Given the description of an element on the screen output the (x, y) to click on. 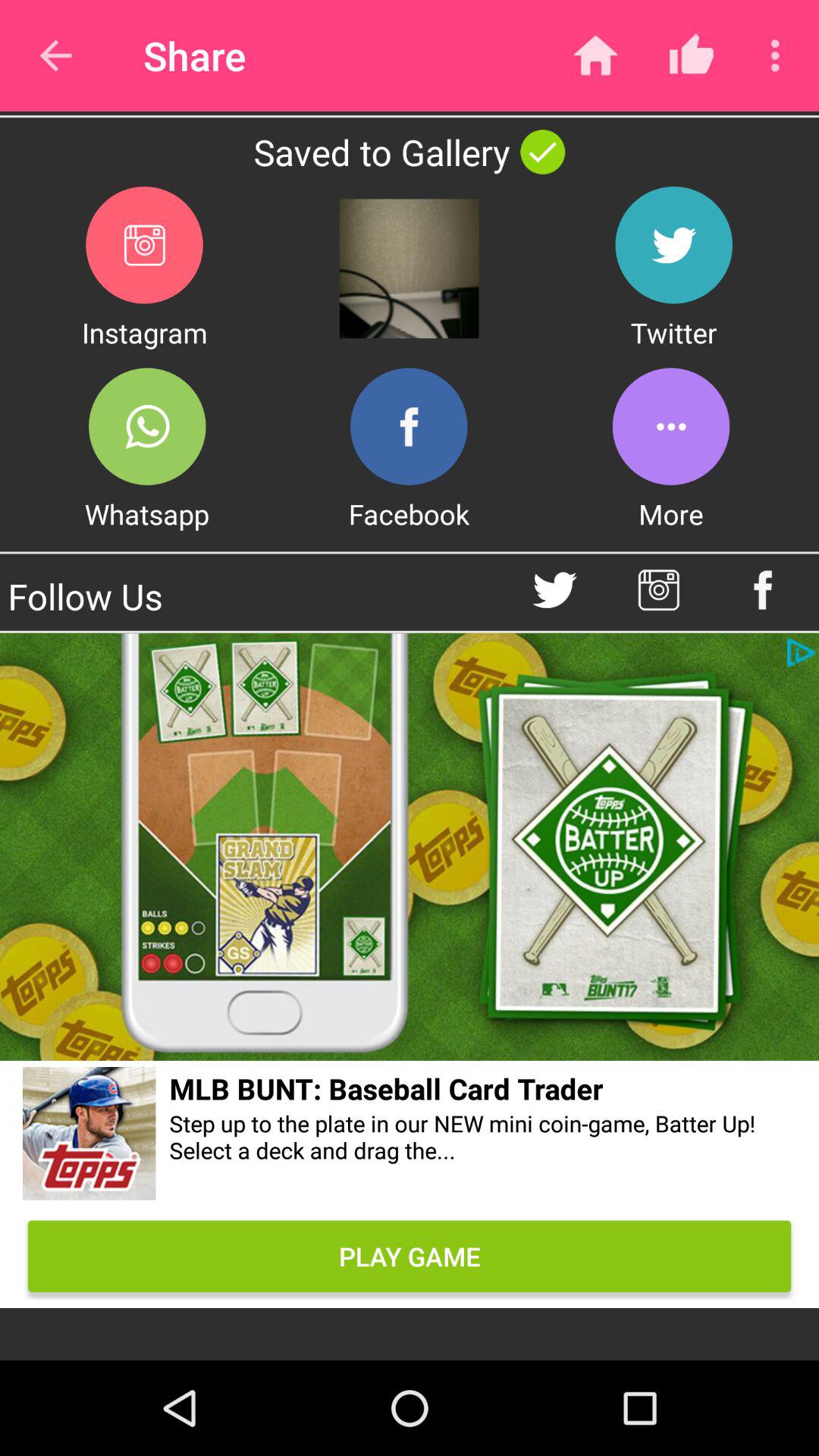
share to instagram (144, 244)
